Given the description of an element on the screen output the (x, y) to click on. 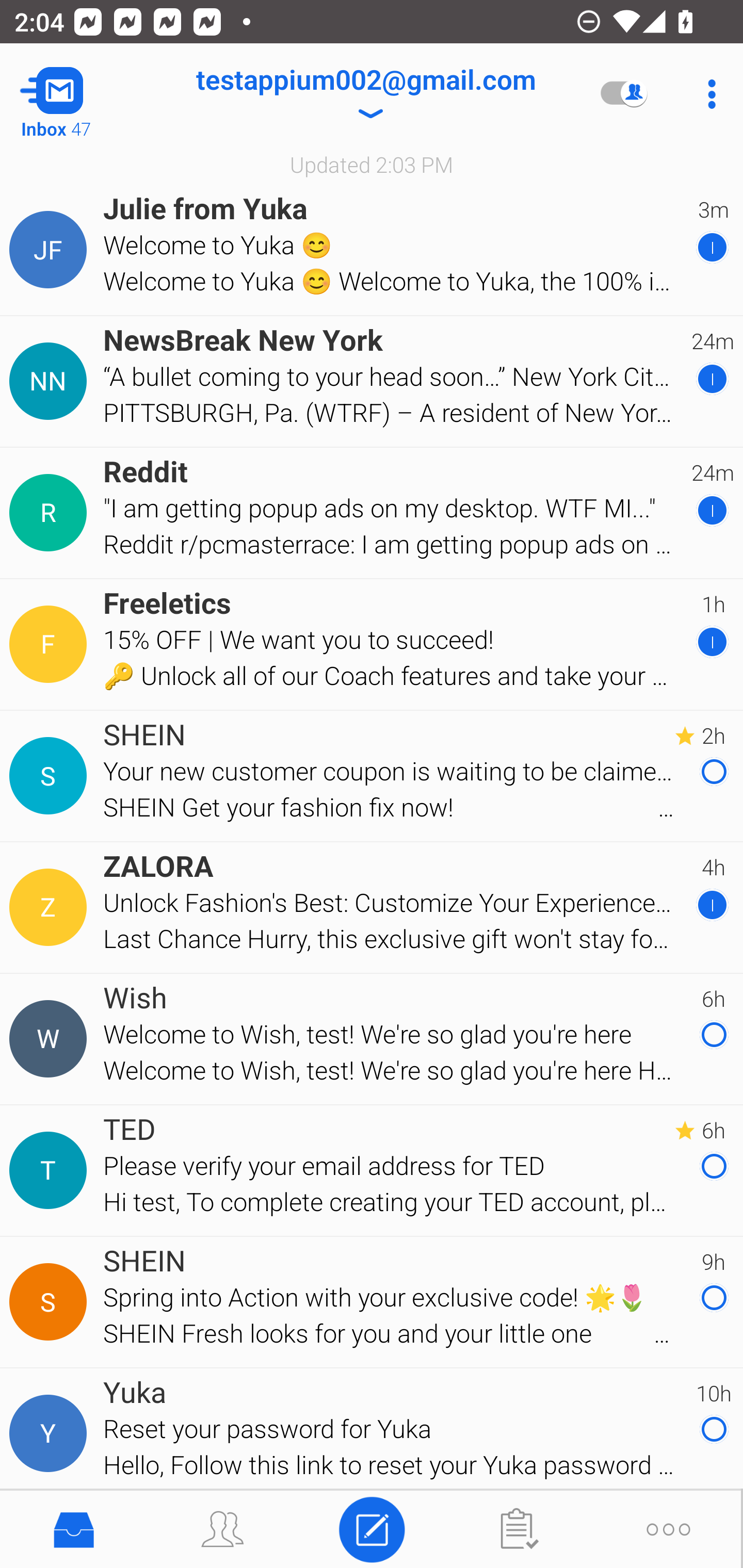
Navigate up (81, 93)
testappium002@gmail.com (365, 93)
More Options (706, 93)
Updated 2:03 PM (371, 164)
Contact Details (50, 250)
Contact Details (50, 381)
Contact Details (50, 513)
Contact Details (50, 644)
Contact Details (50, 776)
Contact Details (50, 907)
Contact Details (50, 1038)
Contact Details (50, 1170)
Contact Details (50, 1302)
Contact Details (50, 1433)
